Given the description of an element on the screen output the (x, y) to click on. 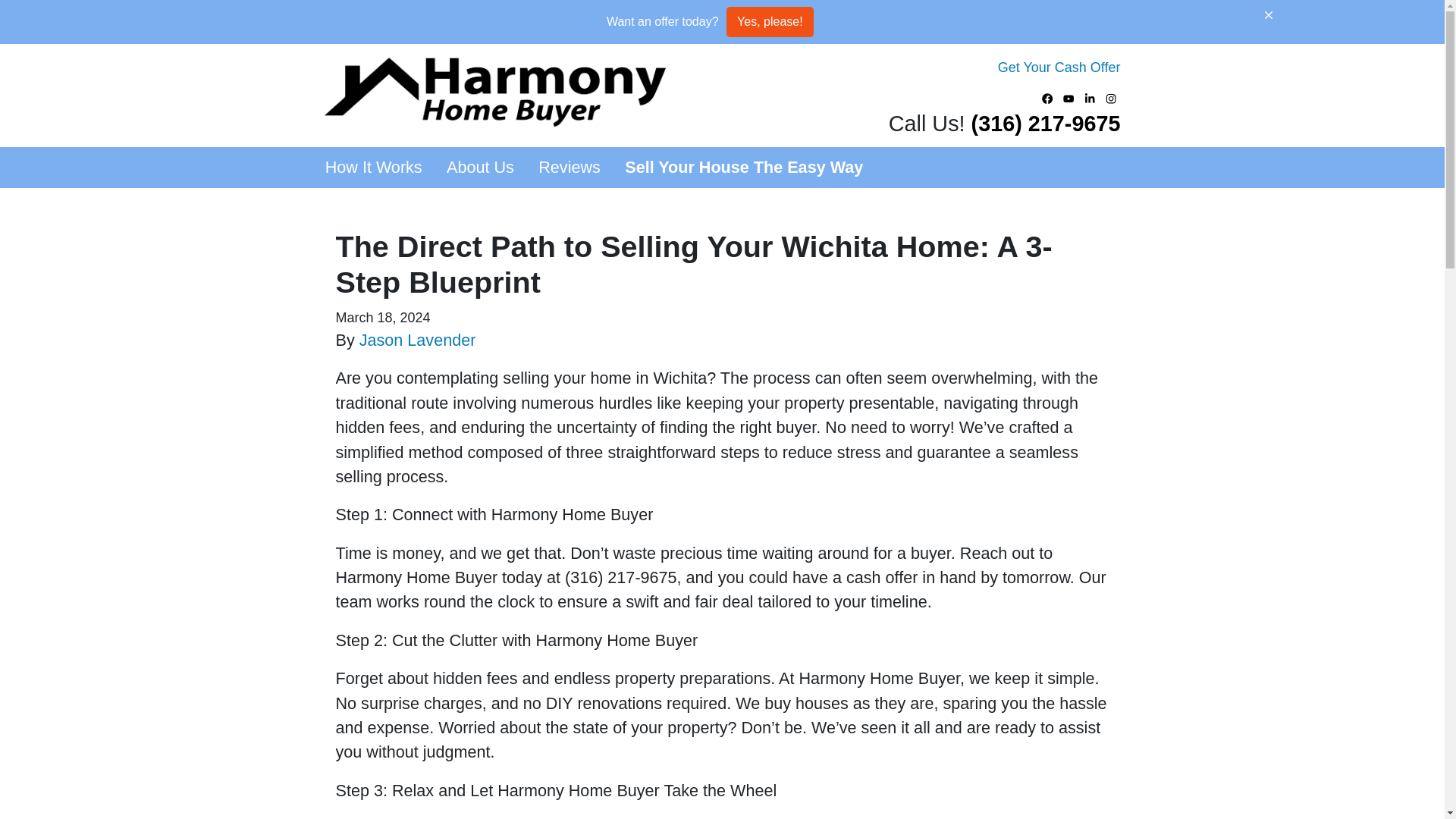
Reviews (568, 167)
Sell Your House The Easy Way (743, 167)
About Us (479, 167)
Sell Your House The Easy Way (743, 167)
About Us (479, 167)
Yes, please! (769, 21)
Reviews (568, 167)
Jason Lavender (417, 339)
YouTube (1068, 98)
How It Works (373, 167)
Get Your Cash Offer (1058, 66)
Facebook (1048, 98)
Instagram (1111, 98)
How It Works (373, 167)
LinkedIn (1090, 98)
